Given the description of an element on the screen output the (x, y) to click on. 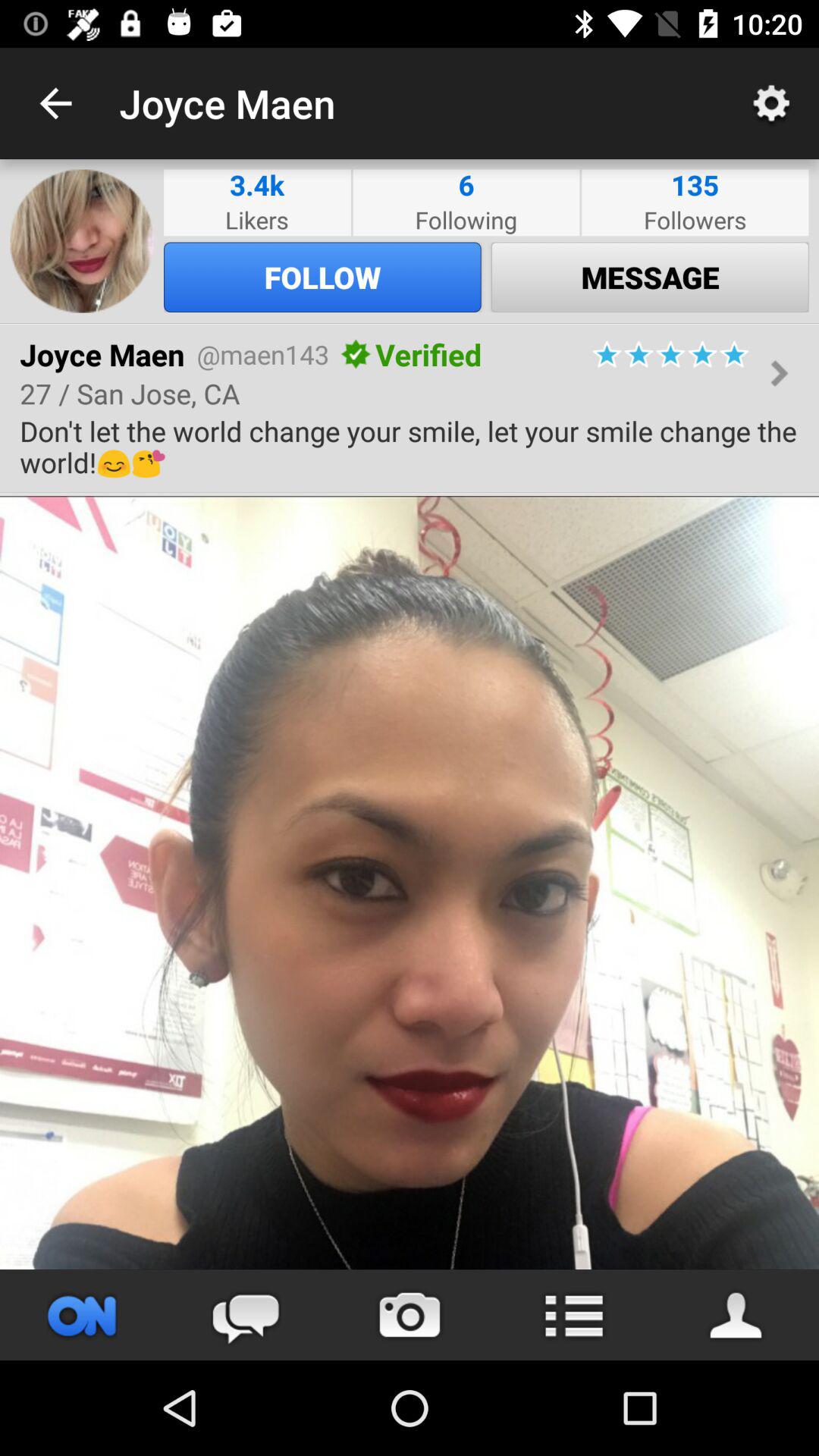
choose icon next to the following item (256, 184)
